Given the description of an element on the screen output the (x, y) to click on. 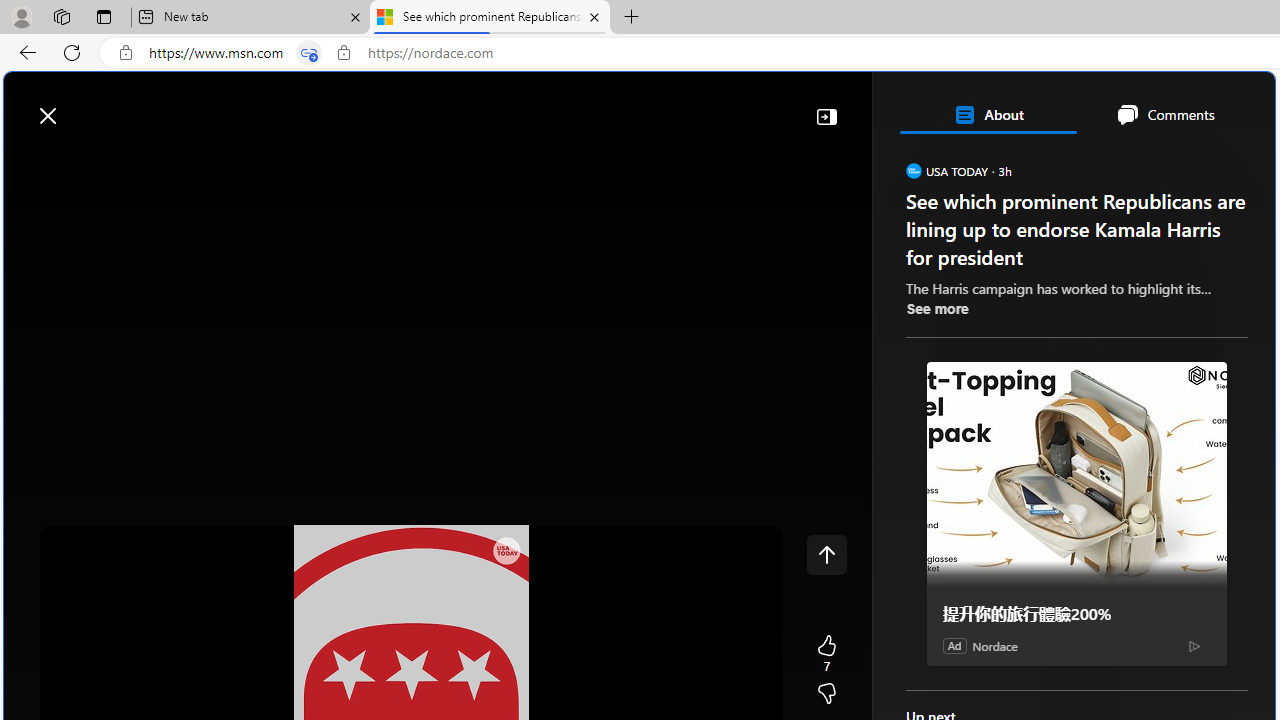
Open navigation menu (29, 162)
Love dogs? We do, too. (1084, 386)
Comments (1165, 114)
USA TODAY (912, 170)
ABC News (974, 557)
Tabs in split screen (308, 53)
About (987, 114)
